Given the description of an element on the screen output the (x, y) to click on. 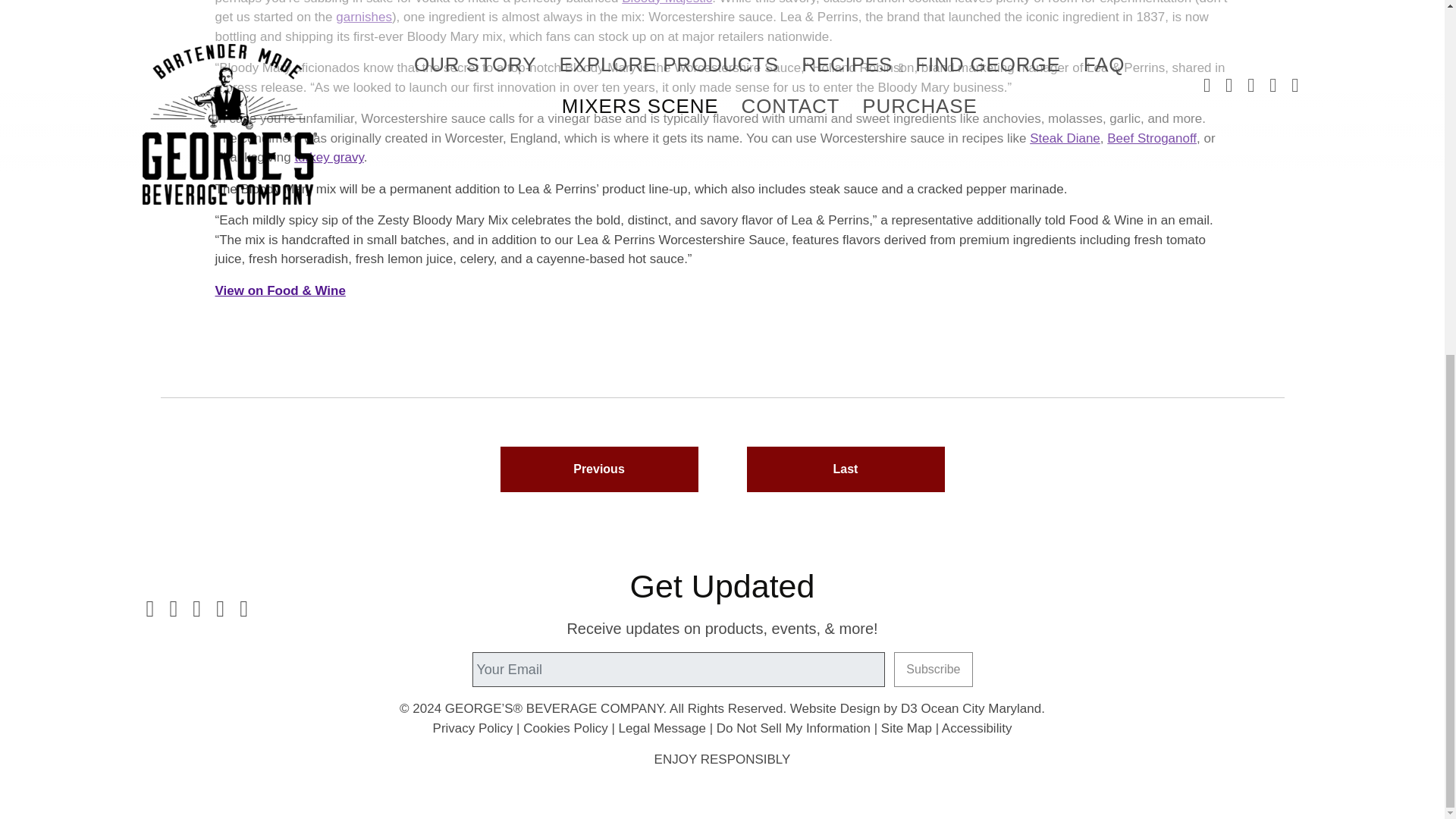
Last (844, 469)
Bloody Majestic (666, 2)
turkey gravy (328, 156)
Steak Diane (1064, 138)
Previous (599, 469)
Beef Stroganoff (1151, 138)
garnishes (363, 16)
